Given the description of an element on the screen output the (x, y) to click on. 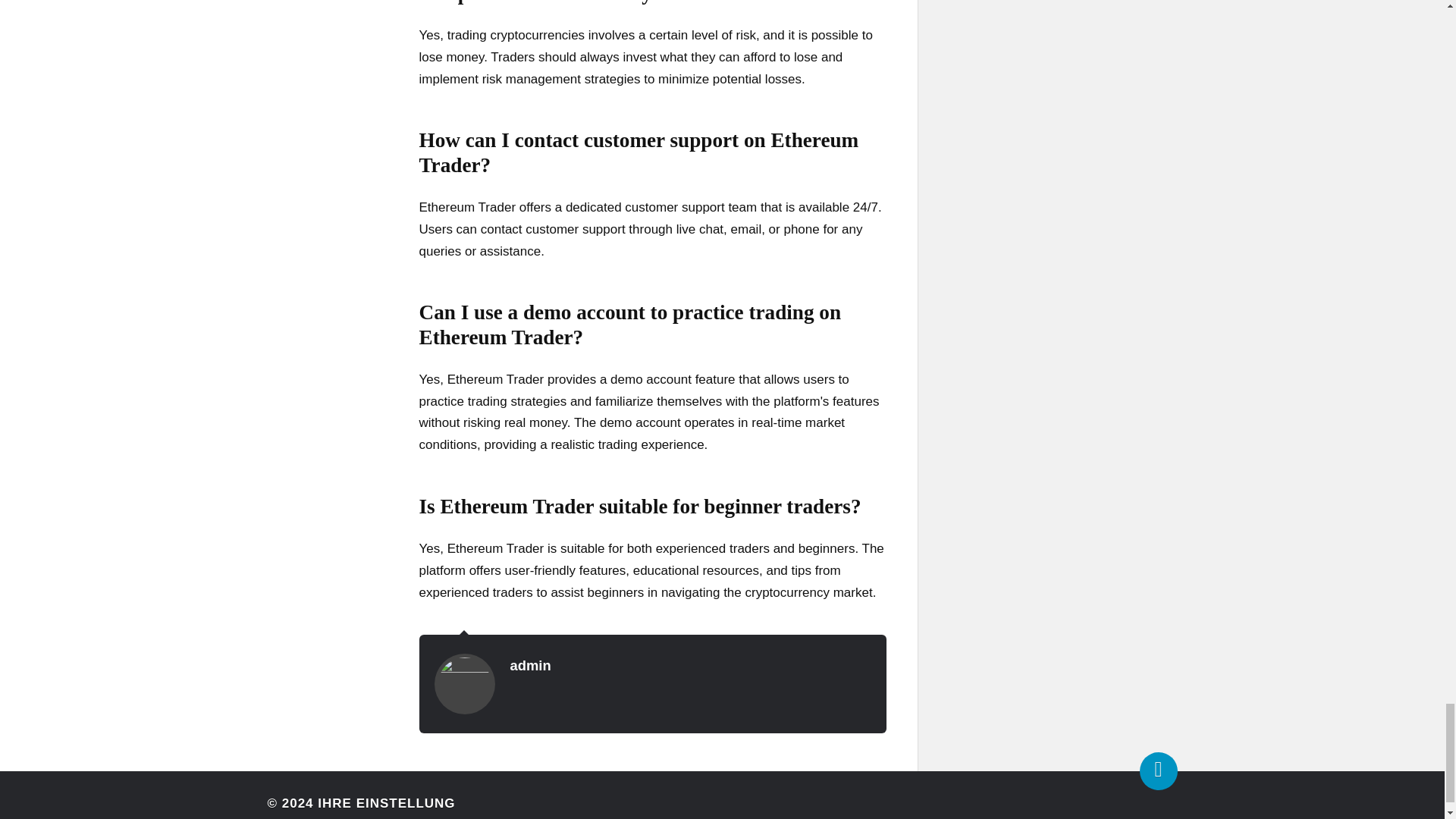
admin (529, 665)
